Given the description of an element on the screen output the (x, y) to click on. 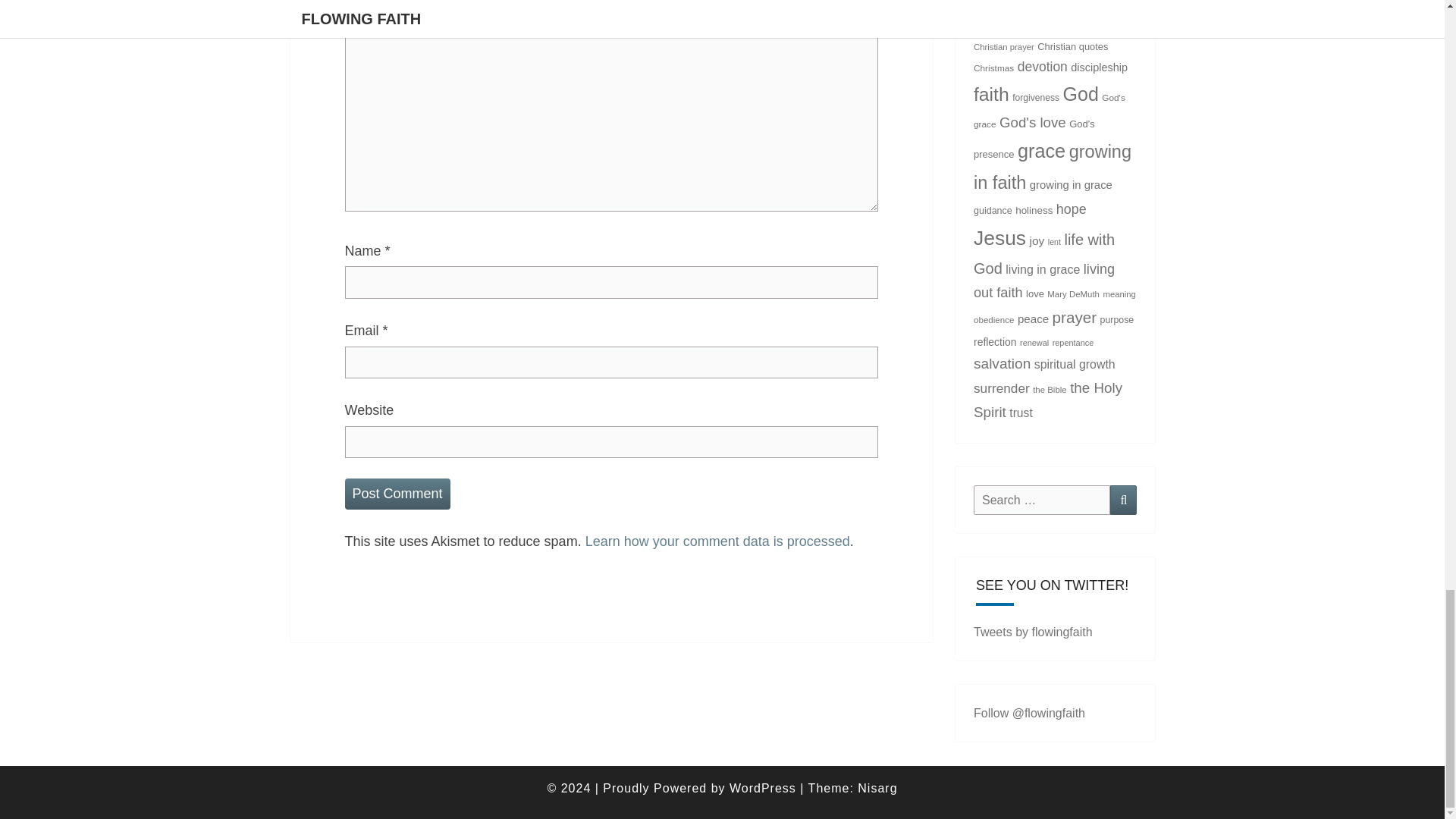
Post Comment (396, 493)
Search for: (1041, 500)
Learn how your comment data is processed (717, 540)
Christian living (1046, 16)
Post Comment (396, 493)
